Given the description of an element on the screen output the (x, y) to click on. 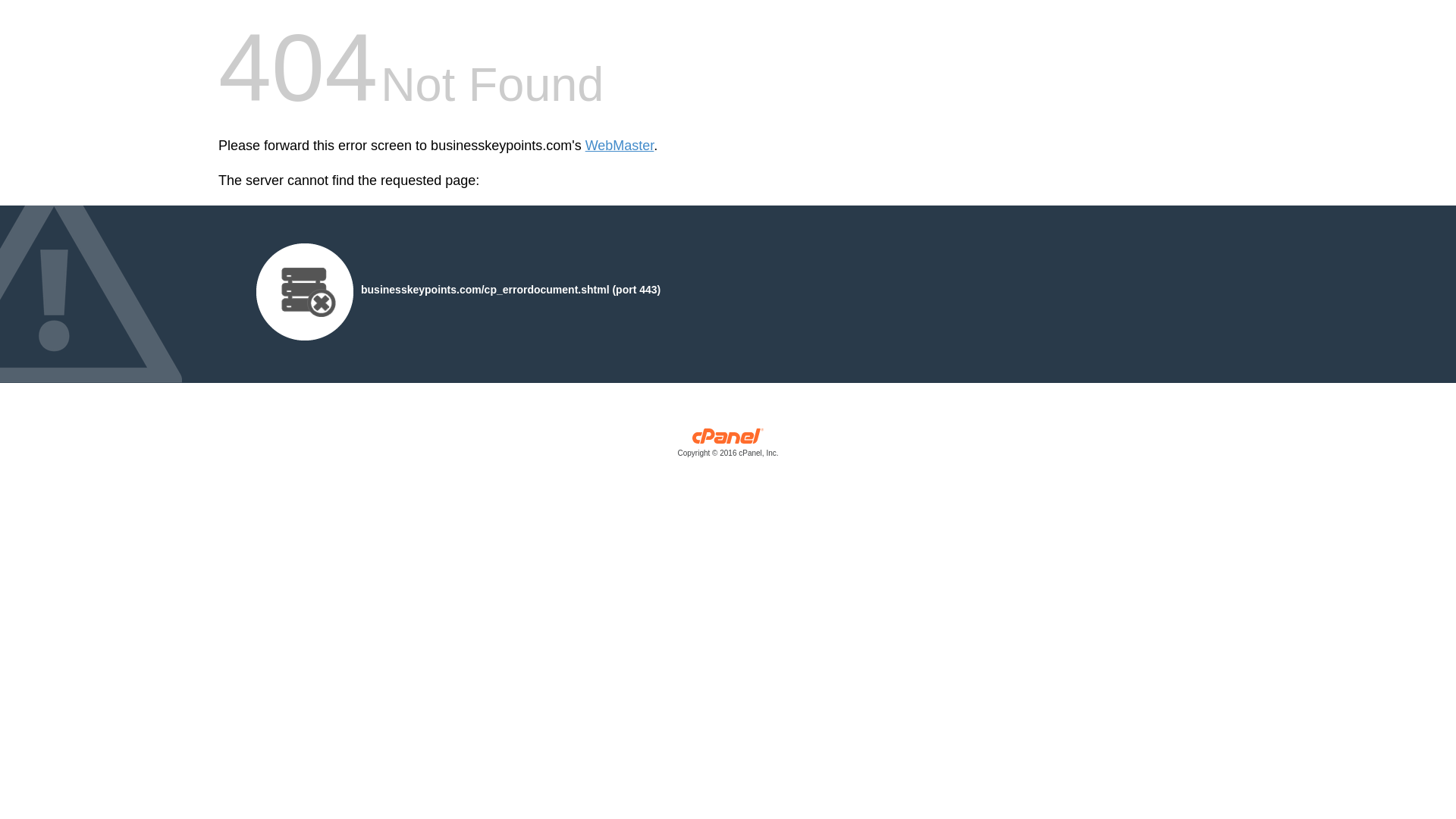
cPanel, Inc. (727, 446)
WebMaster (619, 145)
